Given the description of an element on the screen output the (x, y) to click on. 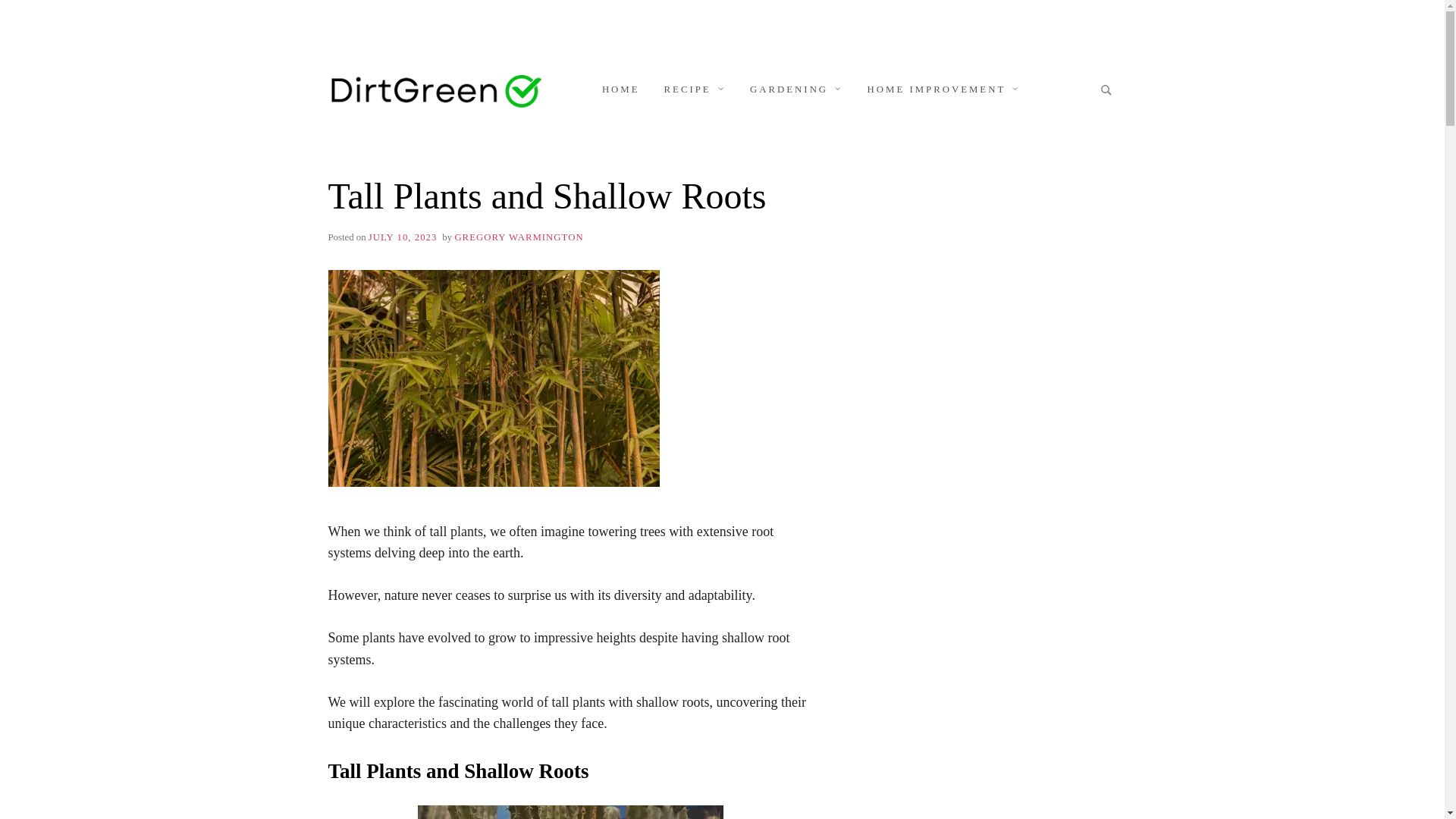
GREGORY WARMINGTON (518, 236)
HOME (620, 89)
RECIPE (694, 89)
JULY 10, 2023 (403, 236)
HOME IMPROVEMENT (943, 89)
GARDENING (796, 89)
